Given the description of an element on the screen output the (x, y) to click on. 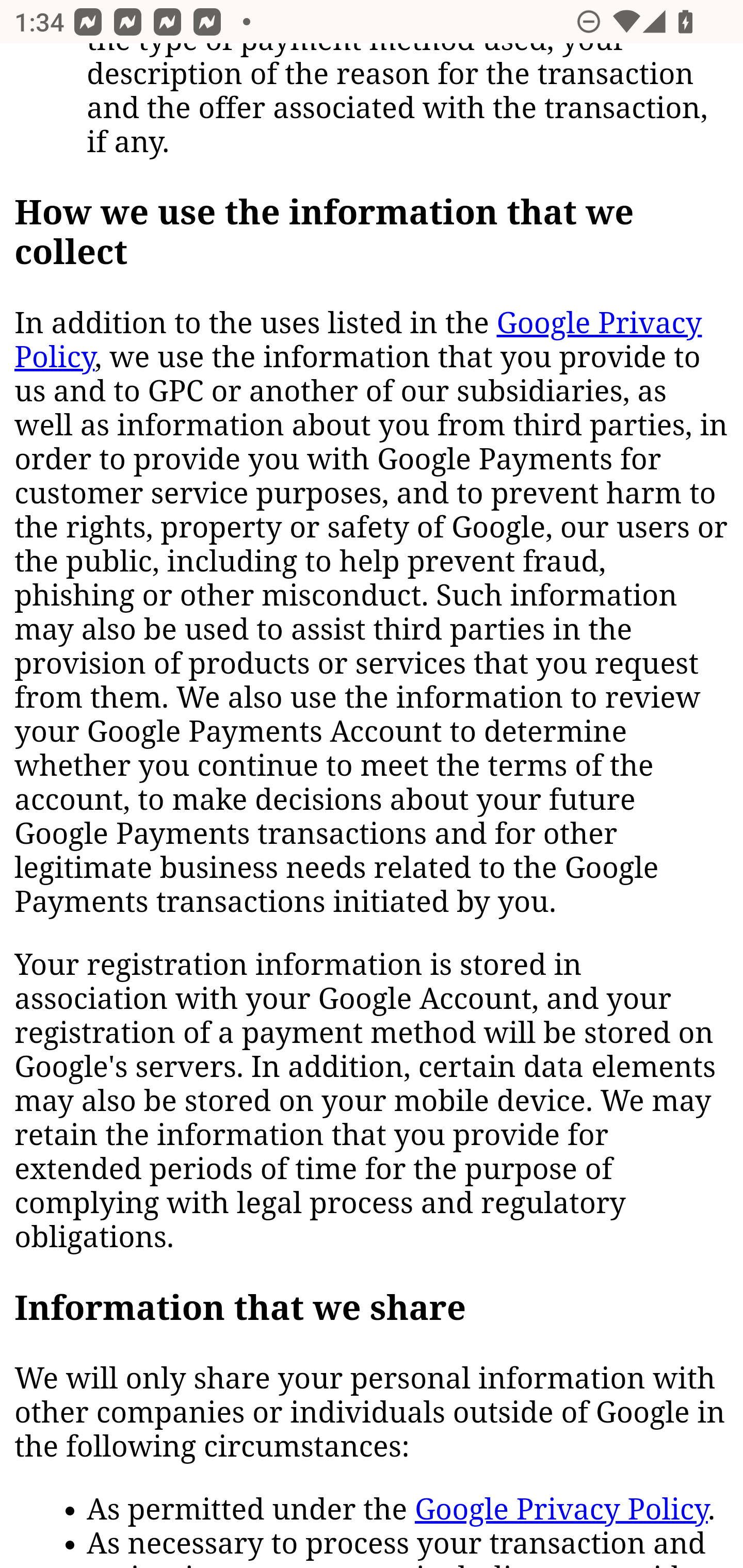
Google Privacy Policy (358, 341)
Google Privacy Policy (561, 1511)
